Given the description of an element on the screen output the (x, y) to click on. 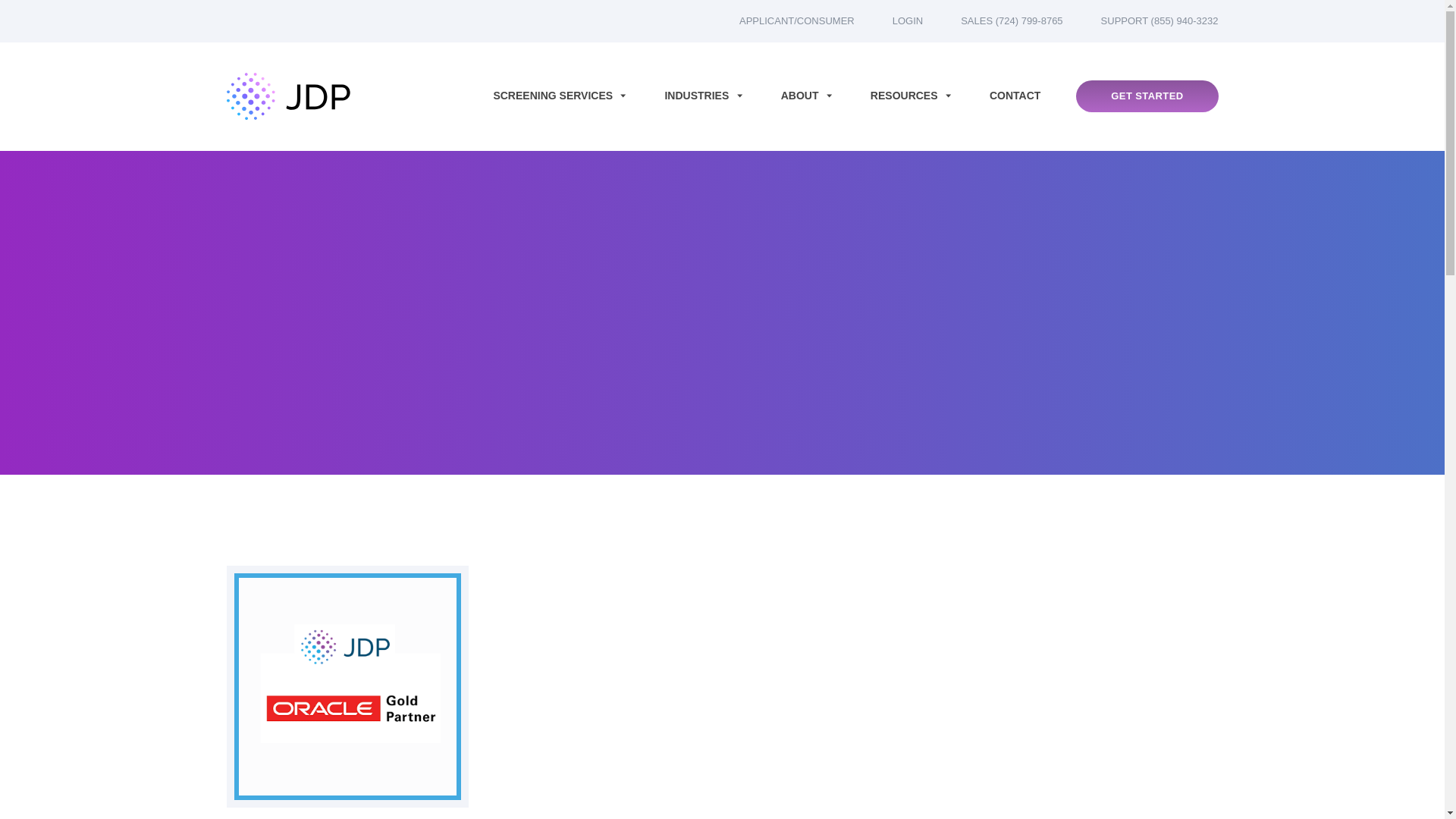
ABOUT (806, 95)
Screening Services (559, 95)
Industries (703, 95)
RESOURCES (911, 95)
CONTACT (1015, 95)
GET STARTED (1146, 95)
SCREENING SERVICES (559, 95)
INDUSTRIES (703, 95)
